Given the description of an element on the screen output the (x, y) to click on. 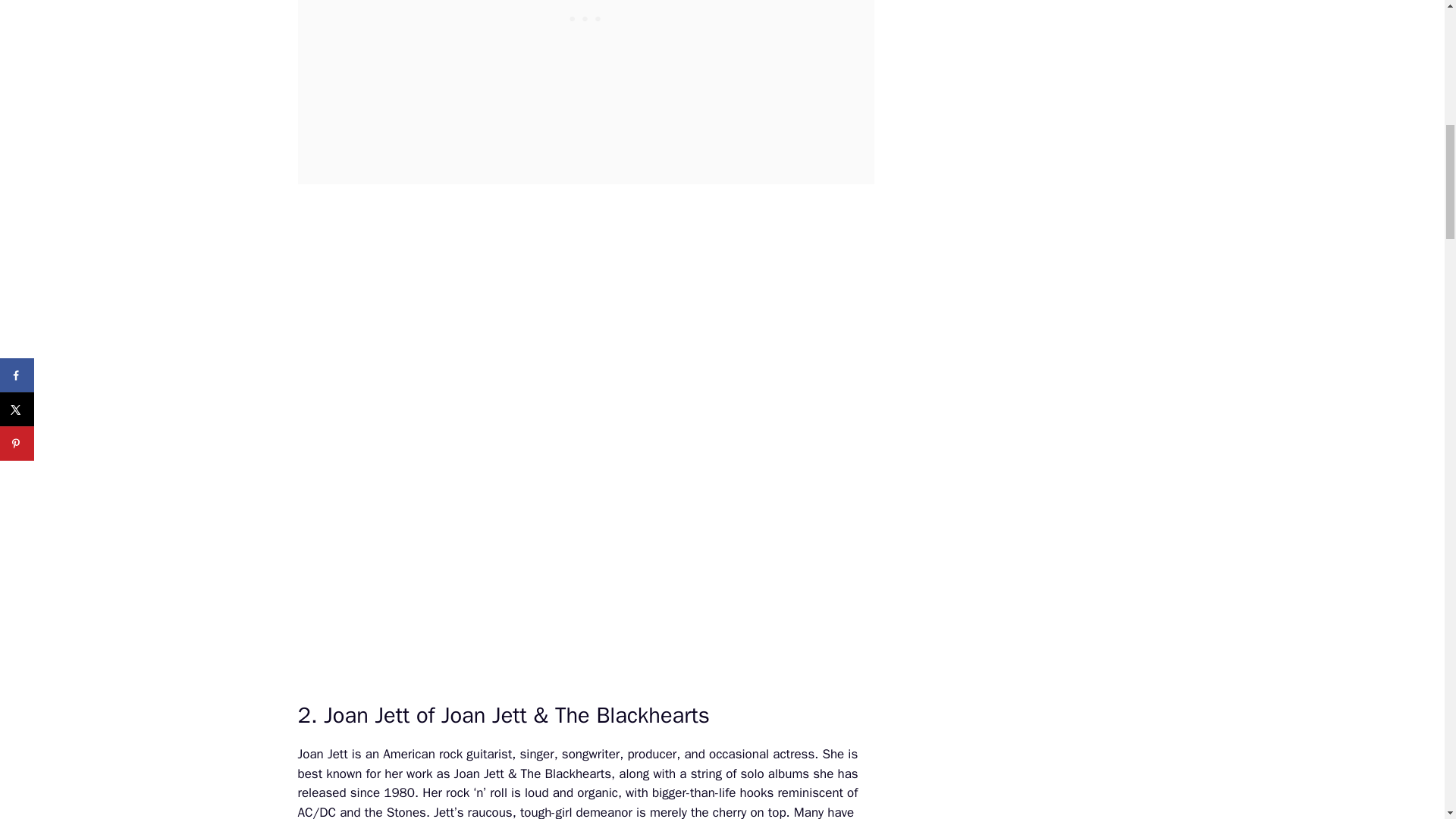
Scroll back to top (1406, 720)
